Given the description of an element on the screen output the (x, y) to click on. 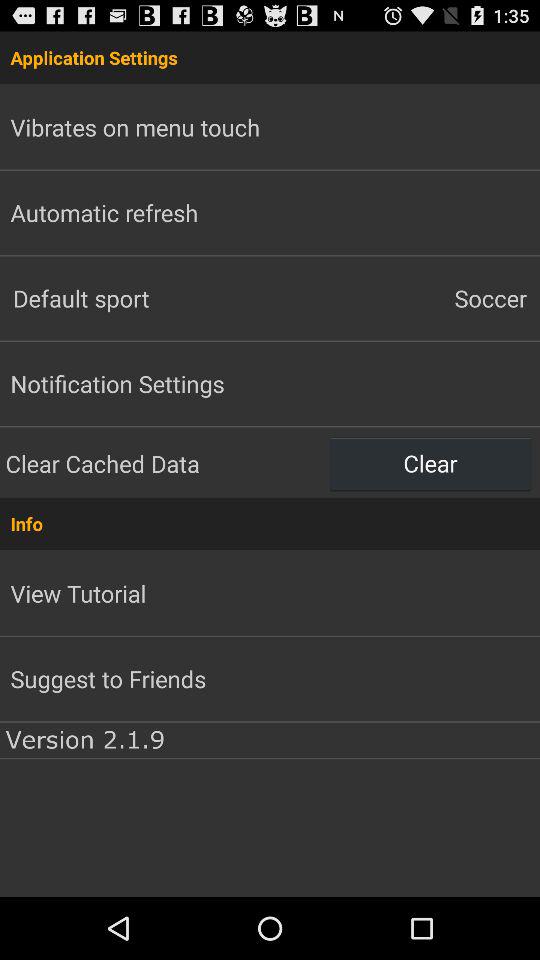
press notification settings item (117, 383)
